Given the description of an element on the screen output the (x, y) to click on. 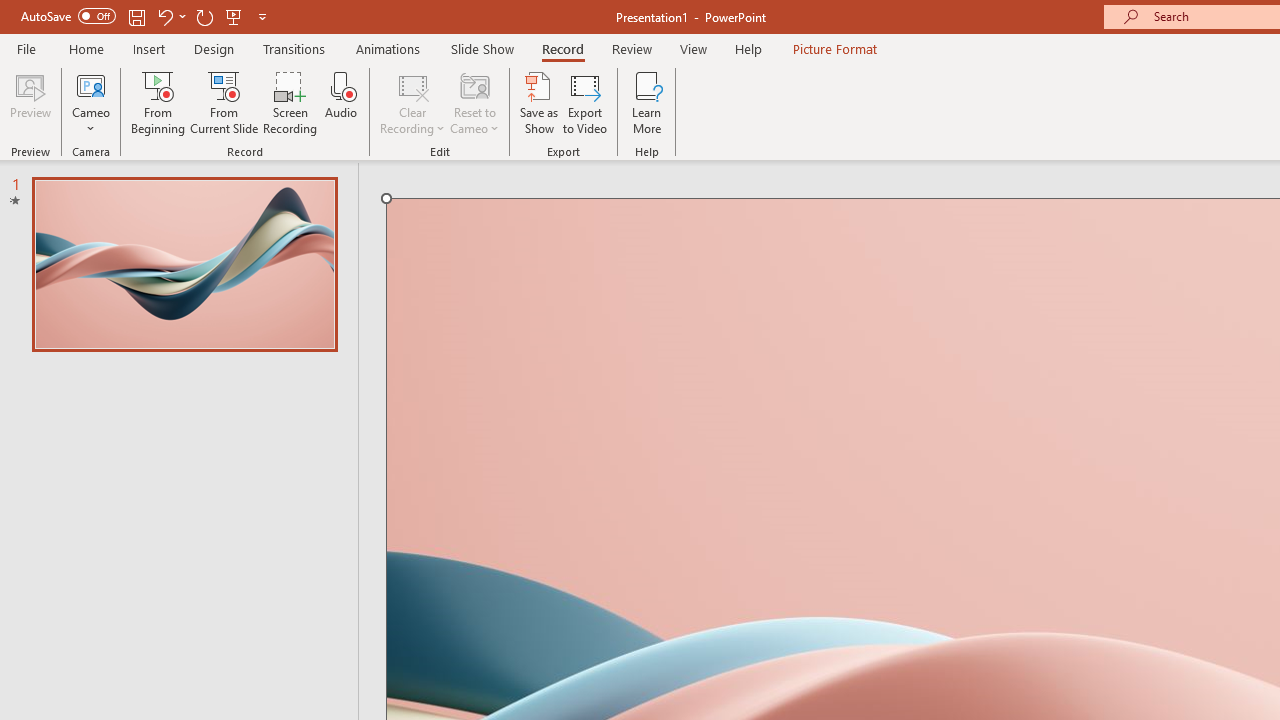
From Current Slide... (224, 102)
Slide Show (481, 48)
Slide (184, 263)
Transitions (294, 48)
AutoSave (68, 16)
System (10, 11)
Review (631, 48)
Learn More (646, 102)
Clear Recording (412, 102)
From Beginning (234, 15)
Animations (388, 48)
Audio (341, 102)
Quick Access Toolbar (145, 16)
File Tab (26, 48)
